Given the description of an element on the screen output the (x, y) to click on. 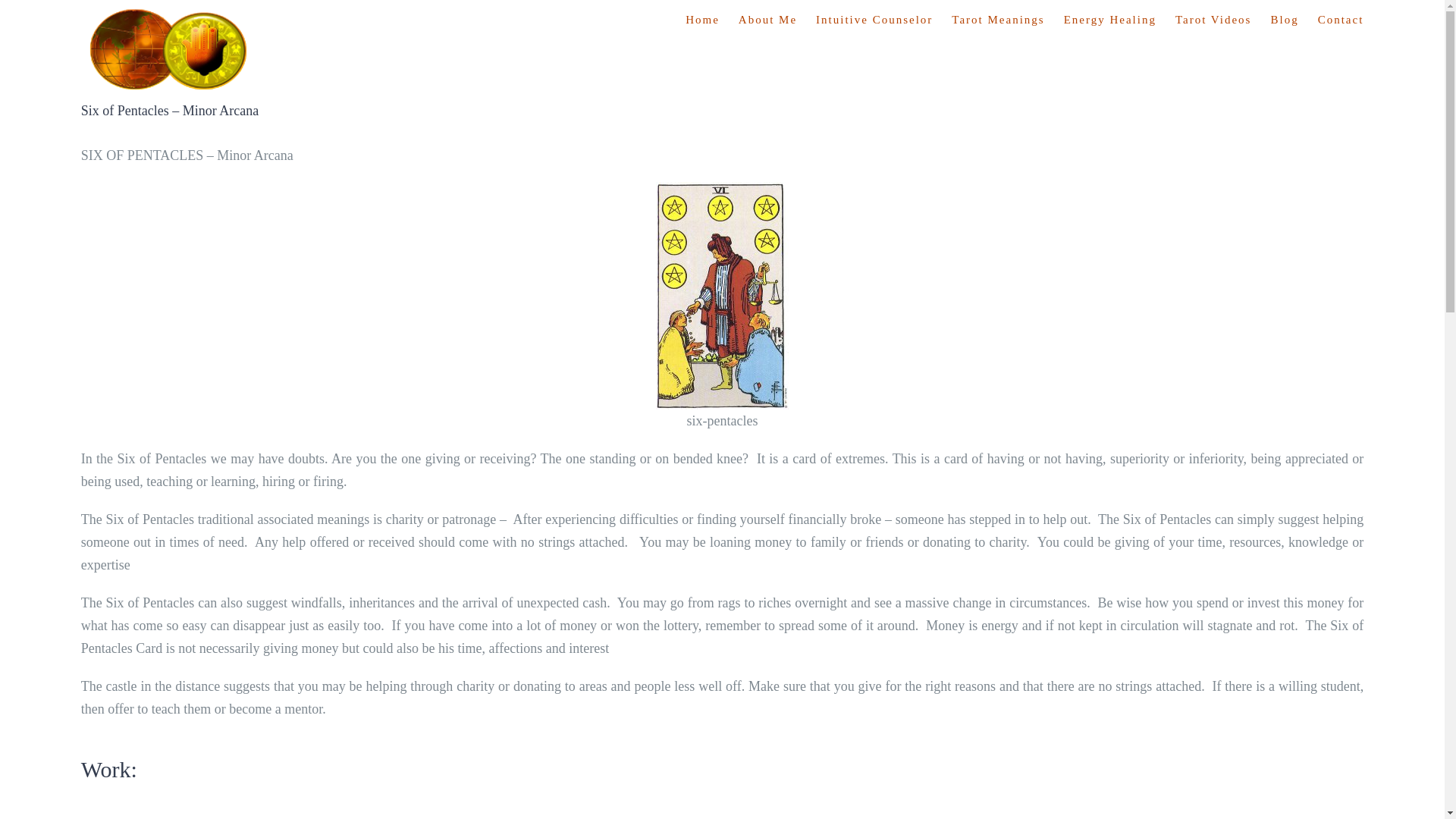
About Me (767, 19)
Home (702, 19)
Energy Healing (1110, 19)
Intuitive Counselor (874, 19)
Blog (1283, 19)
Tarot Meanings (997, 19)
Tarot Videos (1213, 19)
Contact (1340, 19)
